Given the description of an element on the screen output the (x, y) to click on. 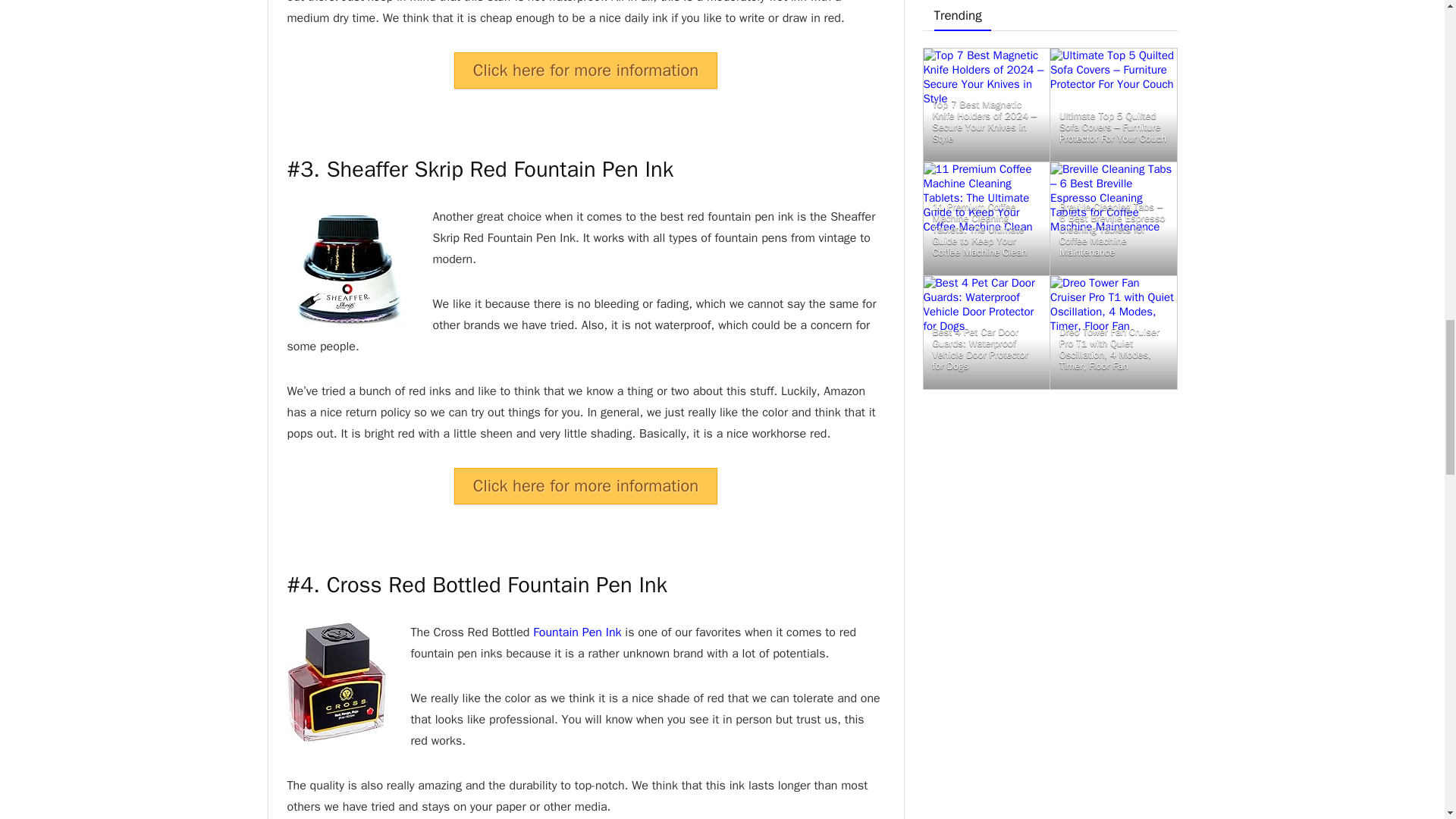
Click here for more information (585, 70)
Click here for more information (585, 485)
Fountain Pen Ink (576, 631)
